Given the description of an element on the screen output the (x, y) to click on. 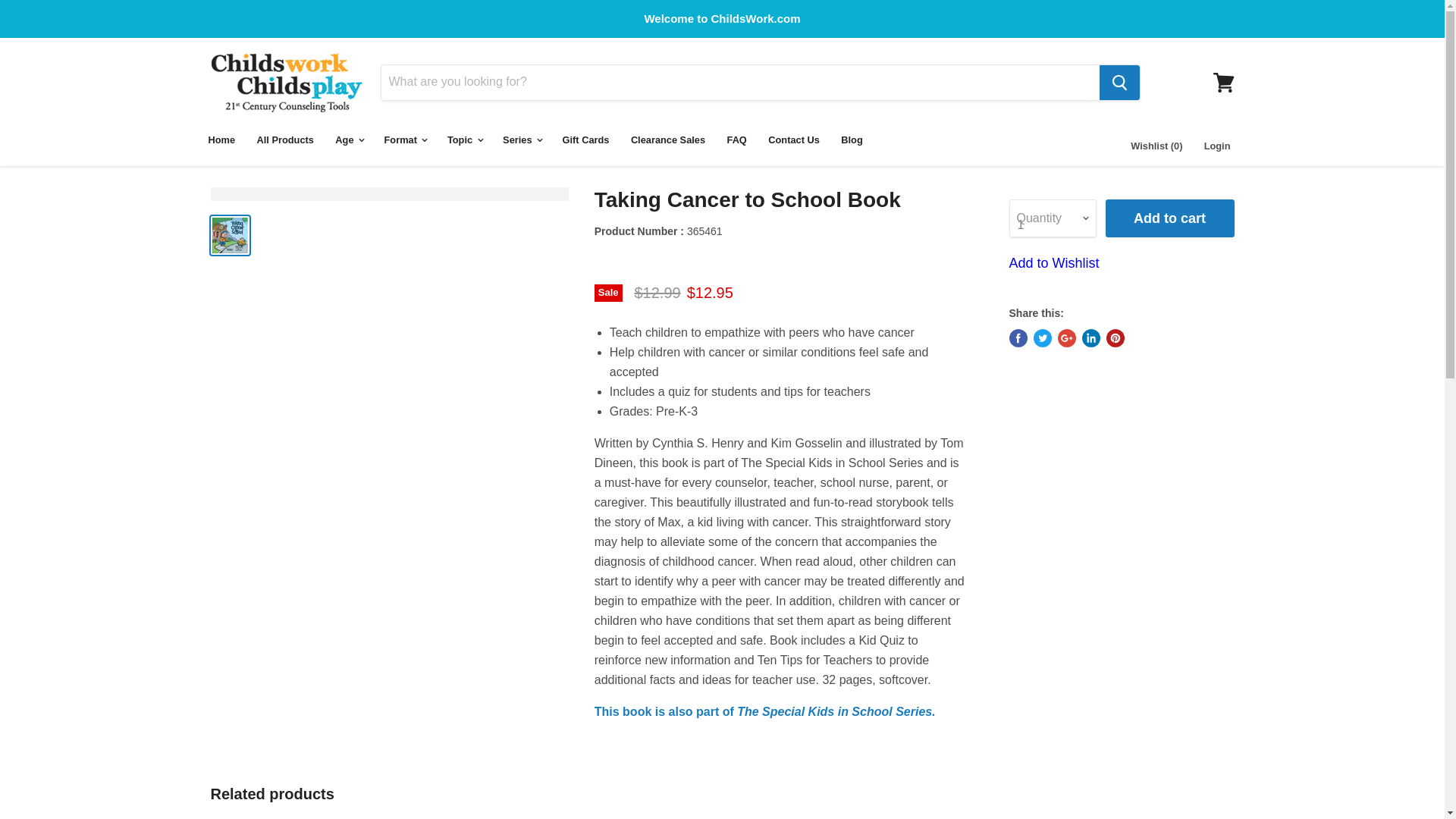
Home (221, 140)
All Products (285, 140)
Format (405, 140)
View cart (1223, 82)
Age (348, 140)
